Given the description of an element on the screen output the (x, y) to click on. 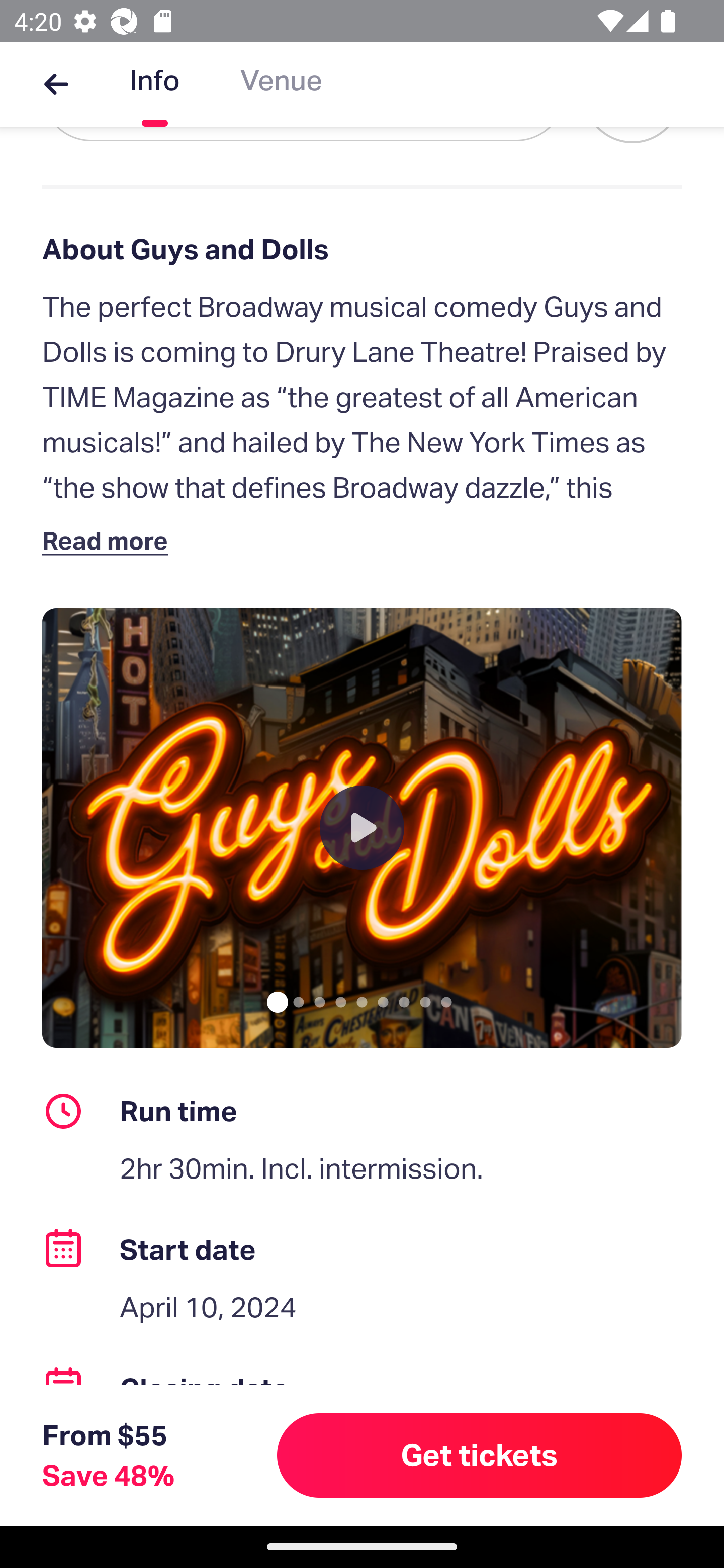
Venue (280, 84)
About Guys and Dolls (361, 249)
Read more (109, 540)
Get tickets (479, 1454)
